Given the description of an element on the screen output the (x, y) to click on. 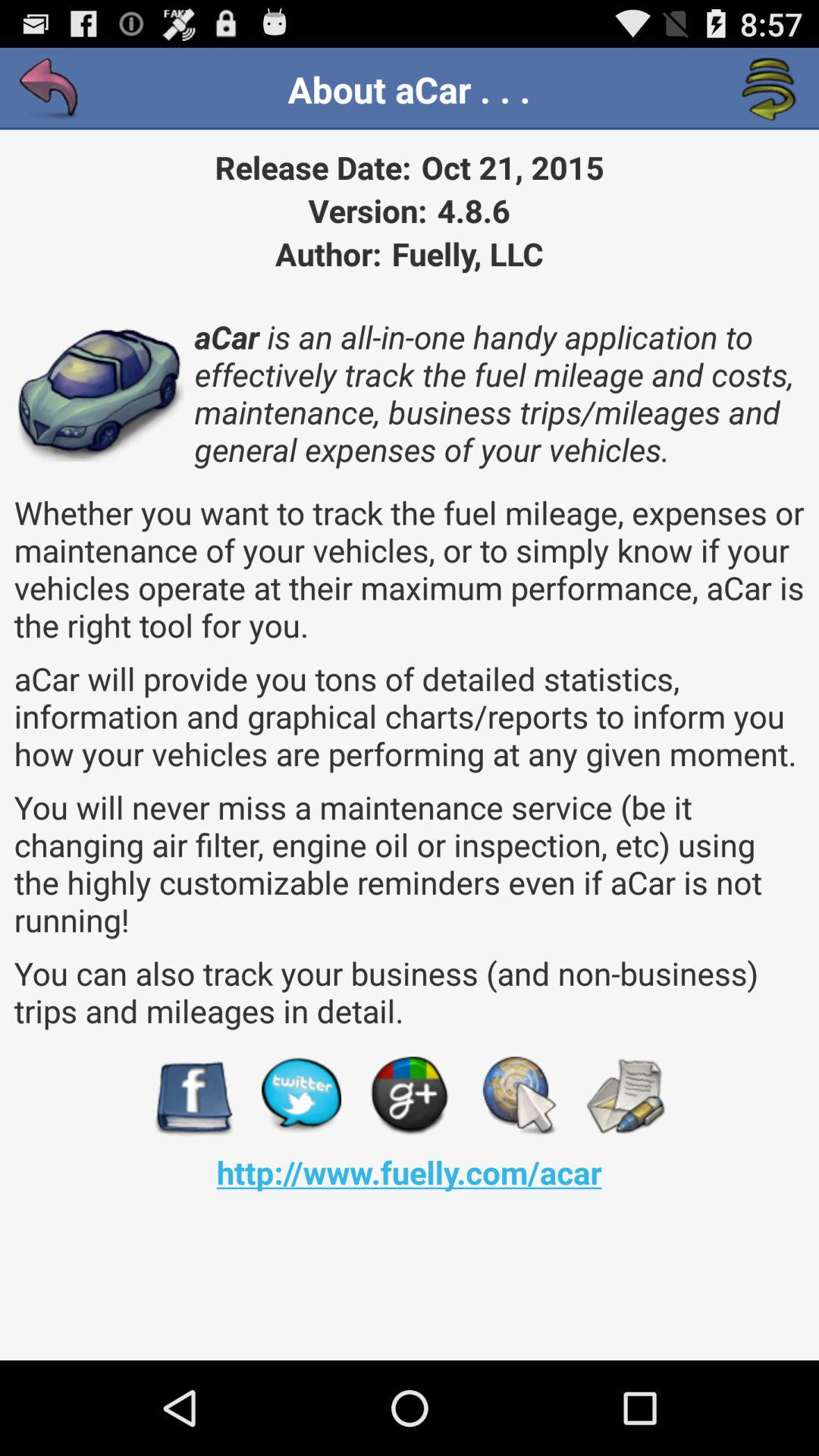
twitter page (301, 1096)
